Given the description of an element on the screen output the (x, y) to click on. 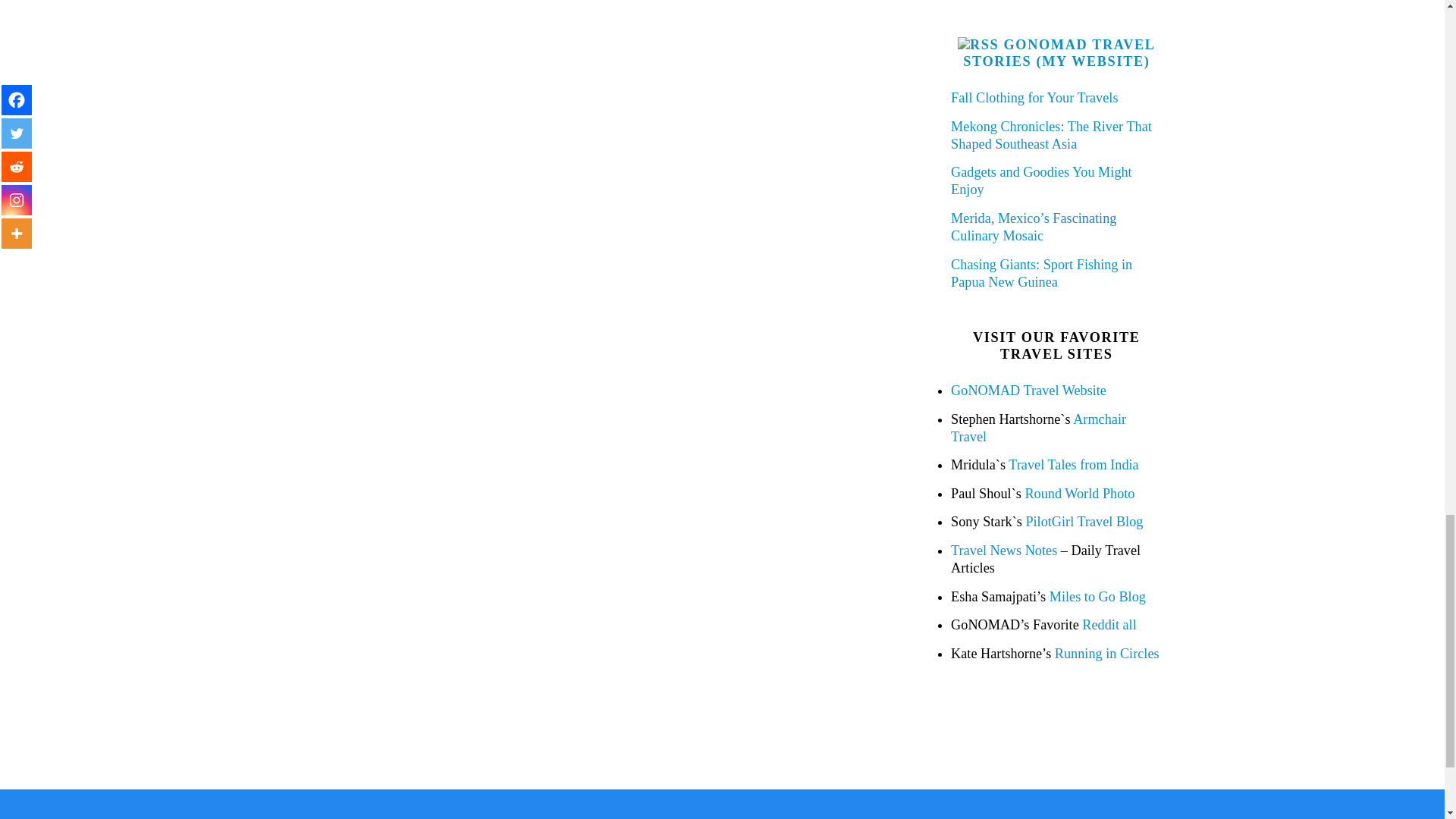
Mekong Chronicles: The River That Shaped Southeast Asia (1050, 134)
Fall Clothing for Your Travels (1034, 97)
Gadgets and Goodies You Might Enjoy (1041, 180)
